Given the description of an element on the screen output the (x, y) to click on. 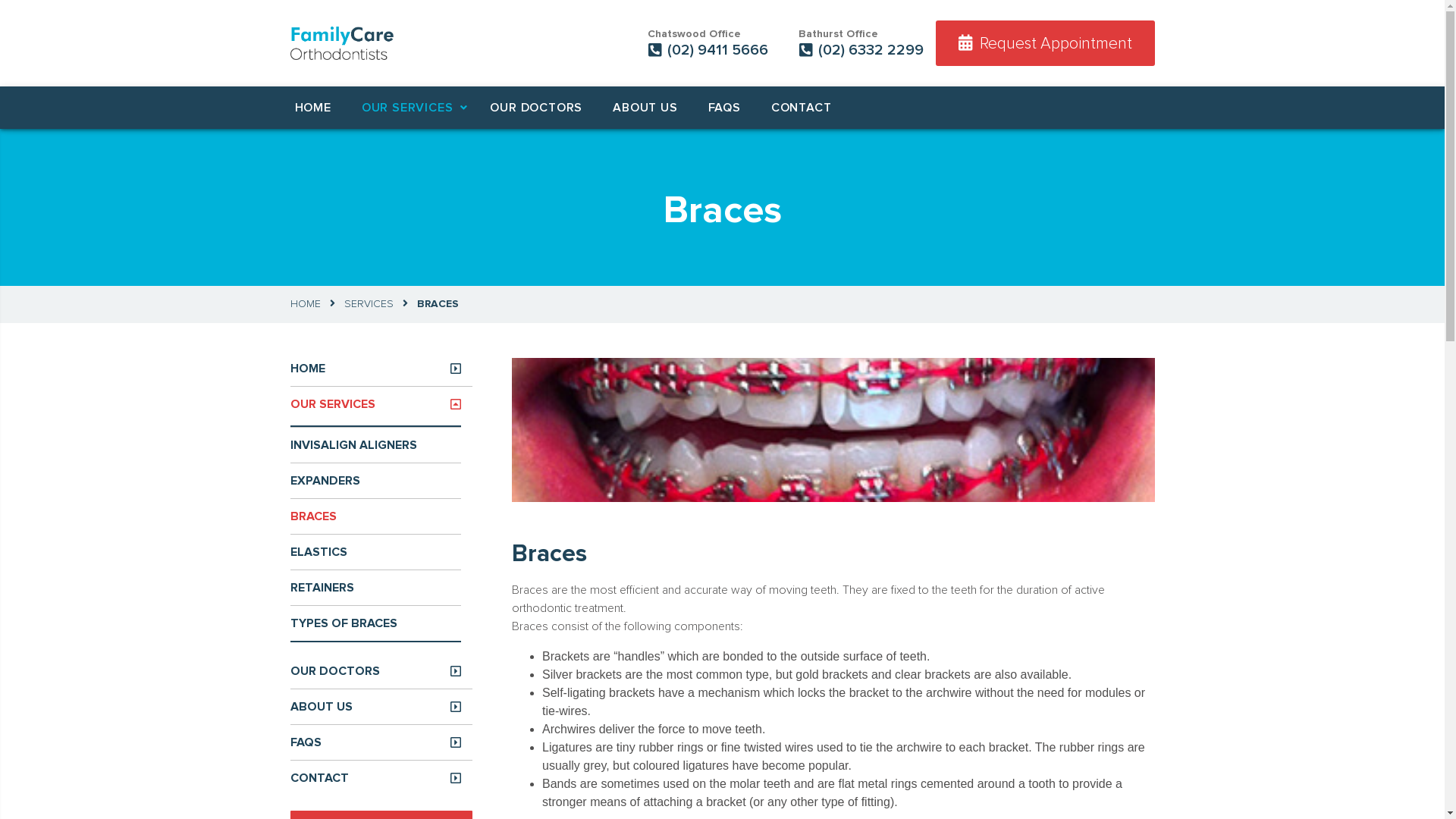
INVISALIGN ALIGNERS Element type: text (368, 445)
HOME Element type: text (304, 303)
CONTACT Element type: text (801, 107)
FAQS Element type: text (374, 742)
BRACES Element type: text (368, 516)
TYPES OF BRACES Element type: text (368, 623)
(02) 6332 2299 Element type: text (859, 49)
CONTACT Element type: text (374, 777)
ABOUT US Element type: text (374, 706)
ABOUT US Element type: text (644, 107)
FAQS Element type: text (724, 107)
OUR DOCTORS Element type: text (374, 671)
HOME Element type: text (374, 368)
EXPANDERS Element type: text (368, 480)
RETAINERS Element type: text (368, 587)
SERVICES Element type: text (368, 303)
ELASTICS Element type: text (368, 552)
OUR SERVICES Element type: text (374, 404)
Request Appointment Element type: text (1044, 42)
HOME Element type: text (312, 107)
(02) 9411 5666 Element type: text (707, 49)
OUR DOCTORS Element type: text (535, 107)
OUR SERVICES Element type: text (407, 107)
